Given the description of an element on the screen output the (x, y) to click on. 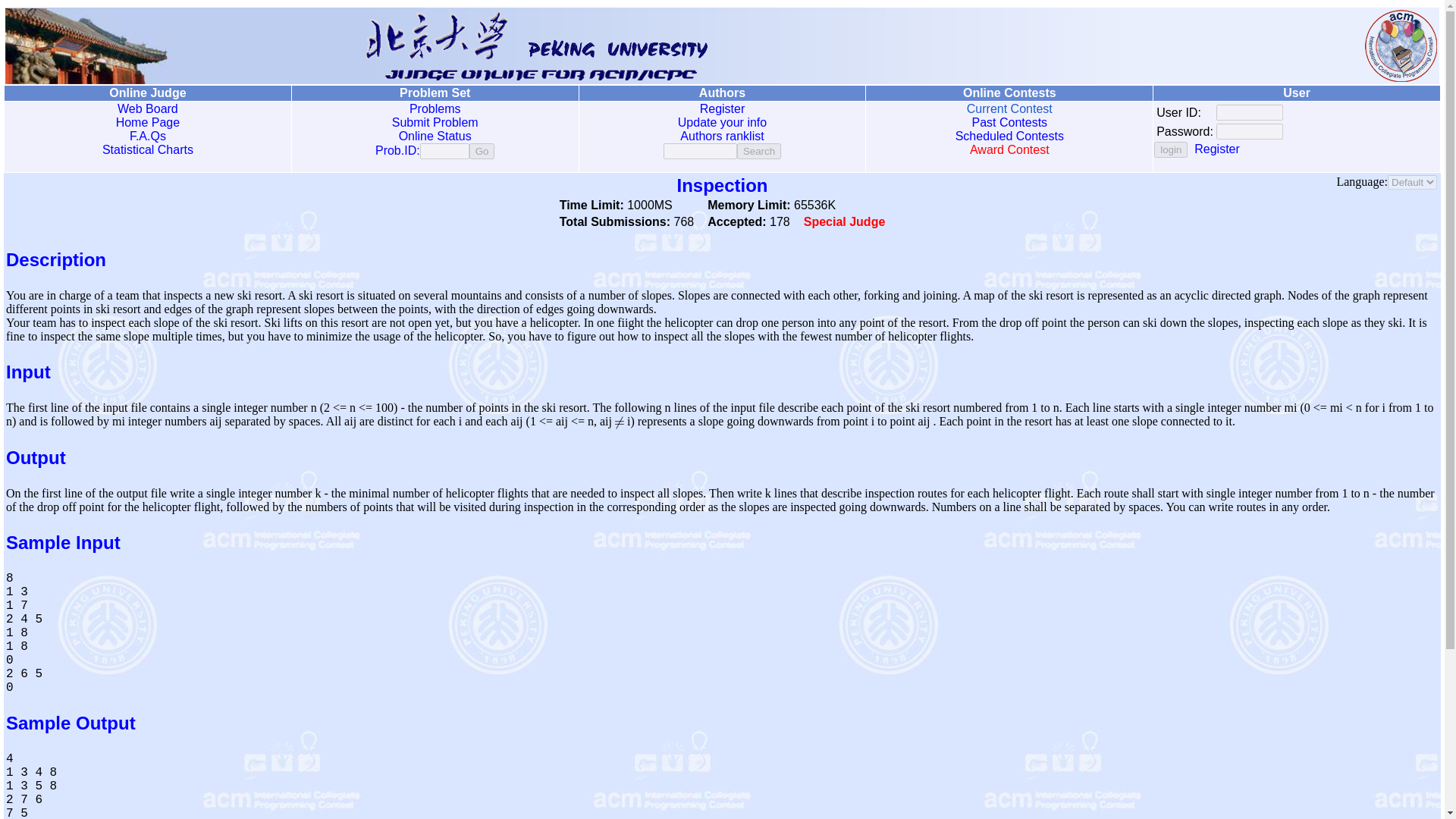
Problems (435, 108)
Scheduled Contests (1009, 135)
Statistical Charts (147, 149)
Award Contest (1009, 149)
F.A.Qs (147, 135)
Authors ranklist (720, 135)
Go (481, 150)
Past Contests (1008, 122)
Register (1216, 148)
login (1171, 149)
Web Board (147, 108)
Submit Problem (435, 122)
Search (758, 150)
Register (722, 108)
Online Status (434, 135)
